Given the description of an element on the screen output the (x, y) to click on. 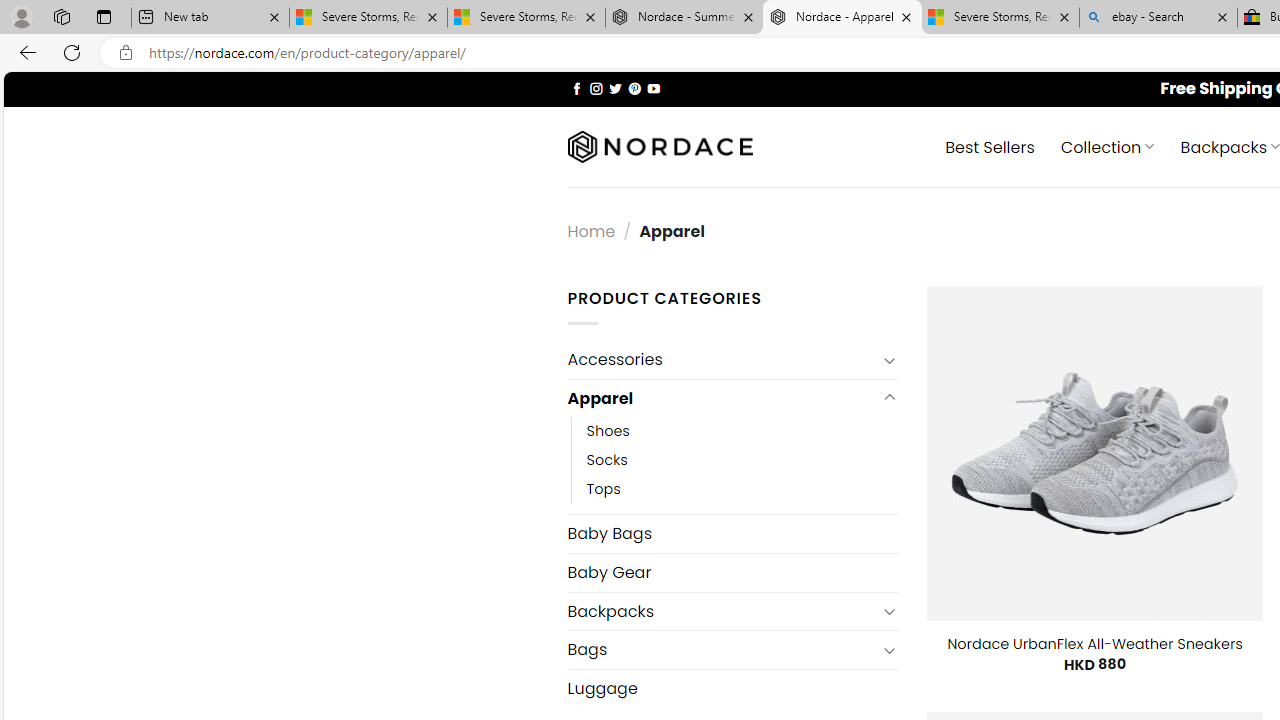
 Best Sellers (989, 146)
Baby Bags (732, 533)
Nordace - Apparel (842, 17)
Tops (742, 489)
Luggage (732, 687)
Luggage (732, 687)
Accessories (721, 359)
Apparel (721, 398)
  Best Sellers (989, 146)
